Given the description of an element on the screen output the (x, y) to click on. 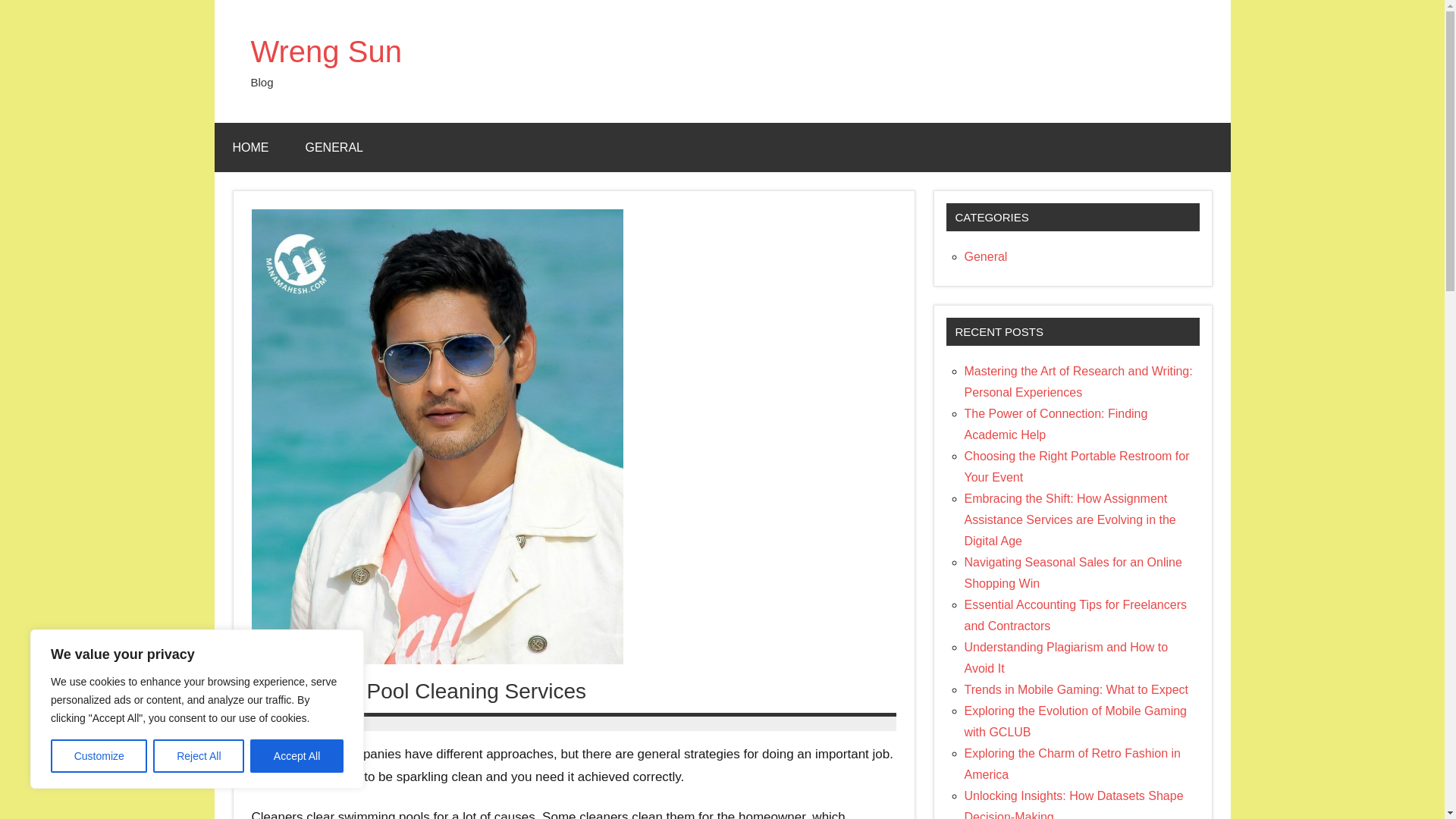
HOME (250, 146)
Navigating Seasonal Sales for an Online Shopping Win (1072, 572)
Wreng Sun (325, 51)
The Power of Connection: Finding Academic Help (1055, 424)
General (985, 256)
Reject All (198, 756)
Essential Accounting Tips for Freelancers and Contractors (1074, 615)
Customize (98, 756)
Trends in Mobile Gaming: What to Expect (1076, 689)
